Given the description of an element on the screen output the (x, y) to click on. 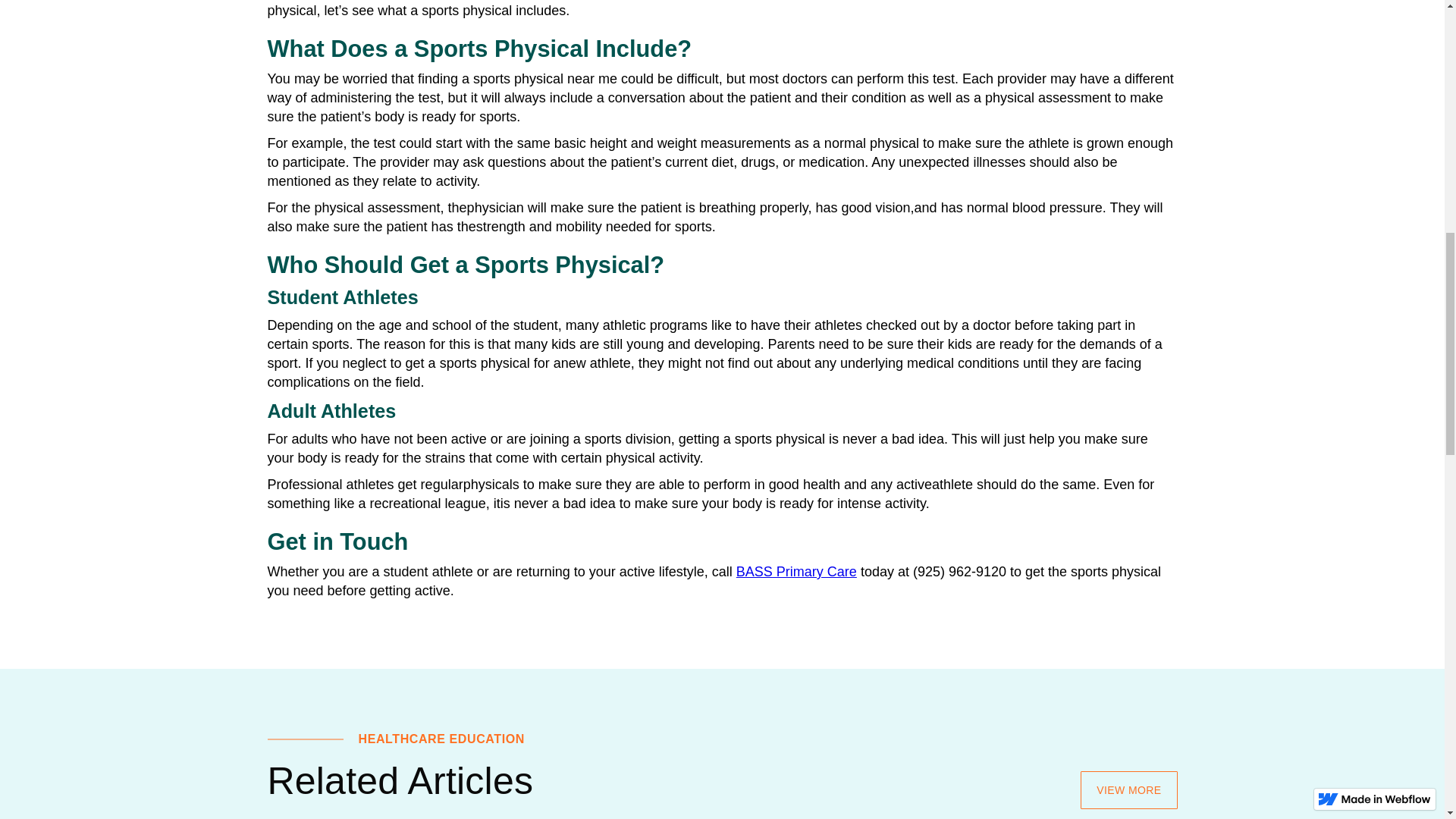
VIEW MORE (1128, 790)
BASS Primary Care (796, 571)
